Given the description of an element on the screen output the (x, y) to click on. 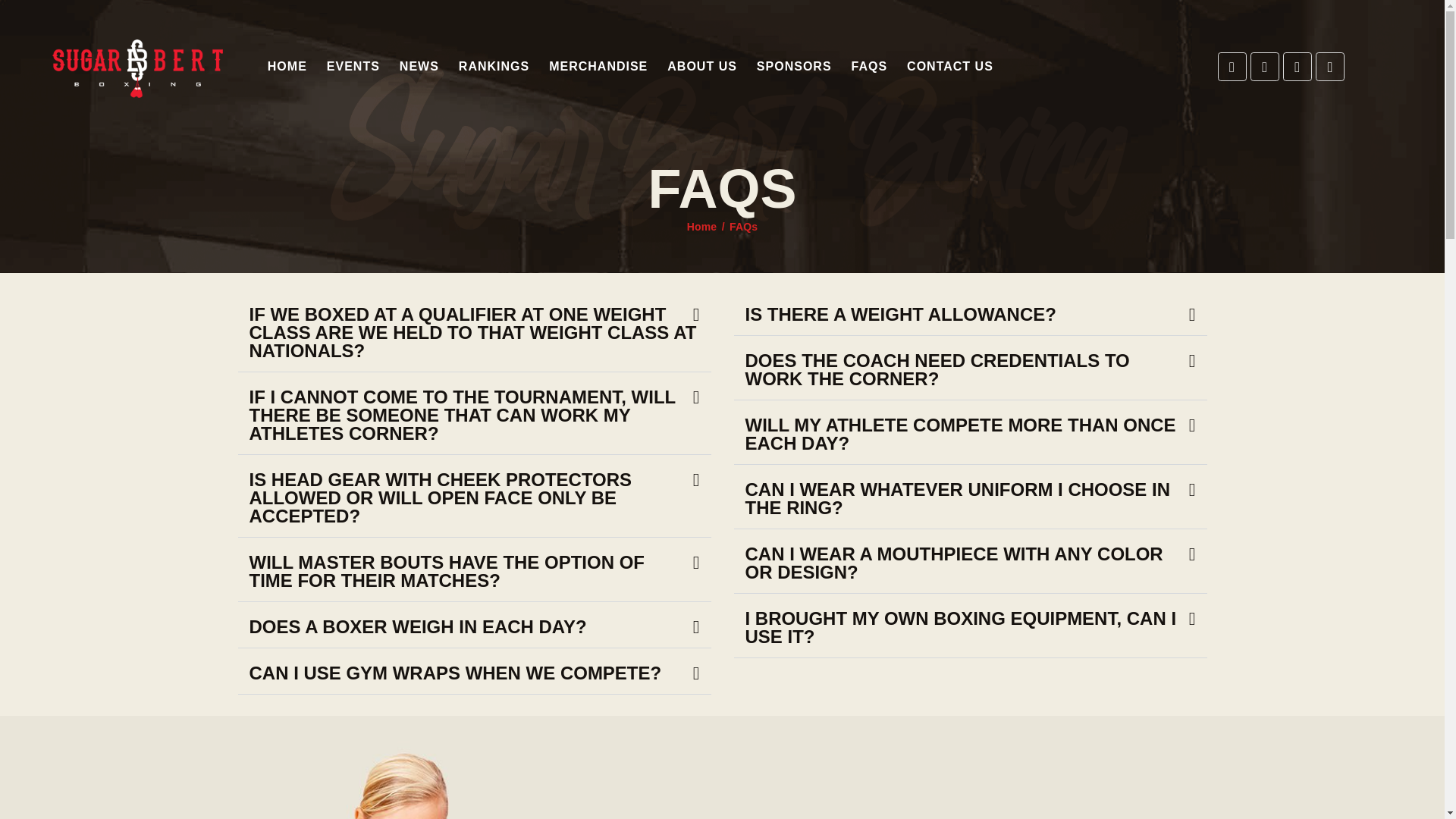
EVENTS (353, 66)
RANKINGS (493, 66)
FAQS (869, 66)
CONTACT US (949, 66)
MERCHANDISE (598, 66)
NEWS (419, 66)
Home (702, 227)
SPONSORS (793, 66)
HOME (287, 66)
ABOUT US (702, 66)
